Given the description of an element on the screen output the (x, y) to click on. 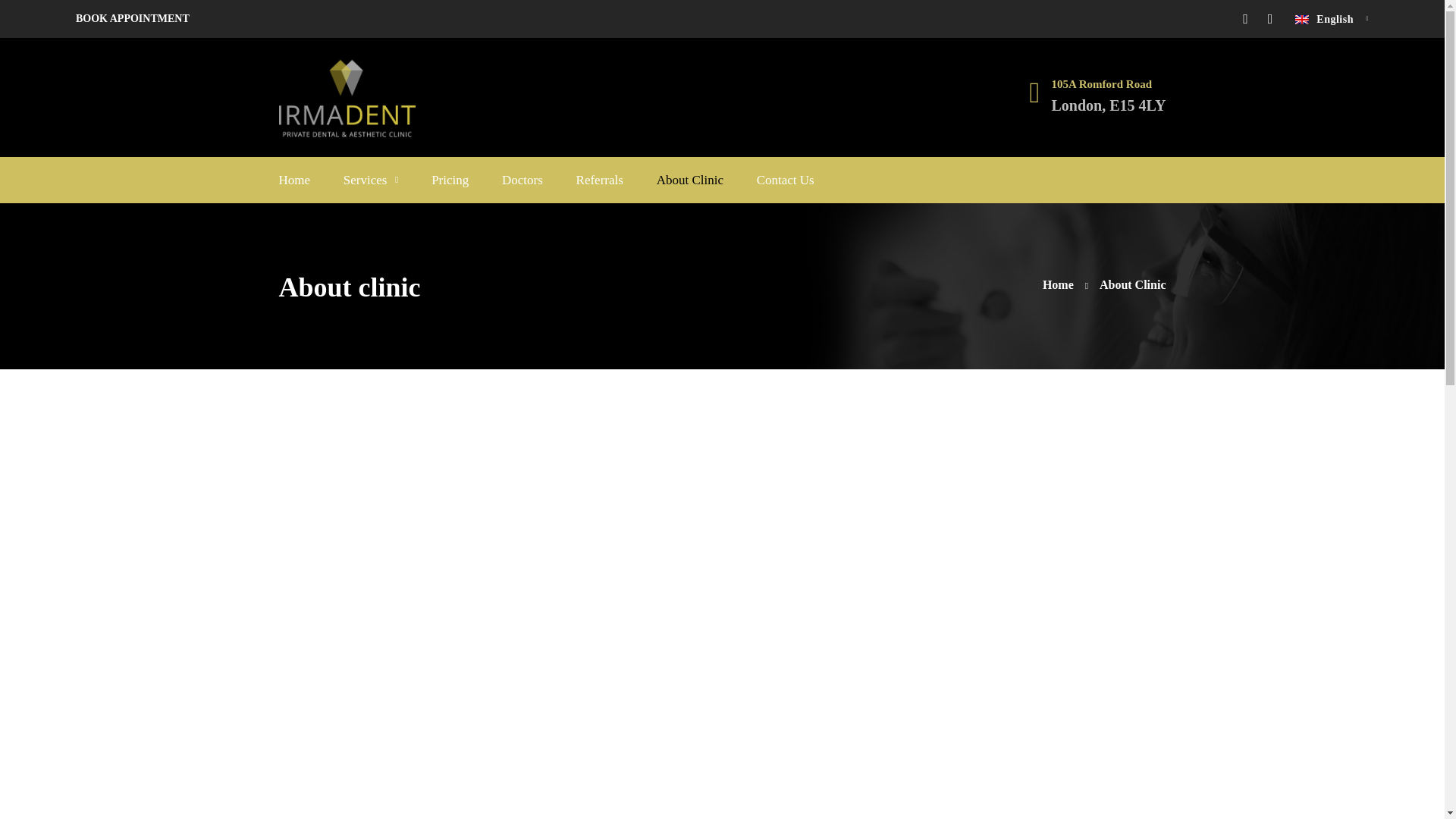
BOOK APPOINTMENT (132, 18)
Referrals (599, 180)
Home (1064, 284)
English (1331, 18)
Contact Us (785, 180)
About Clinic (689, 180)
Services (370, 180)
